Given the description of an element on the screen output the (x, y) to click on. 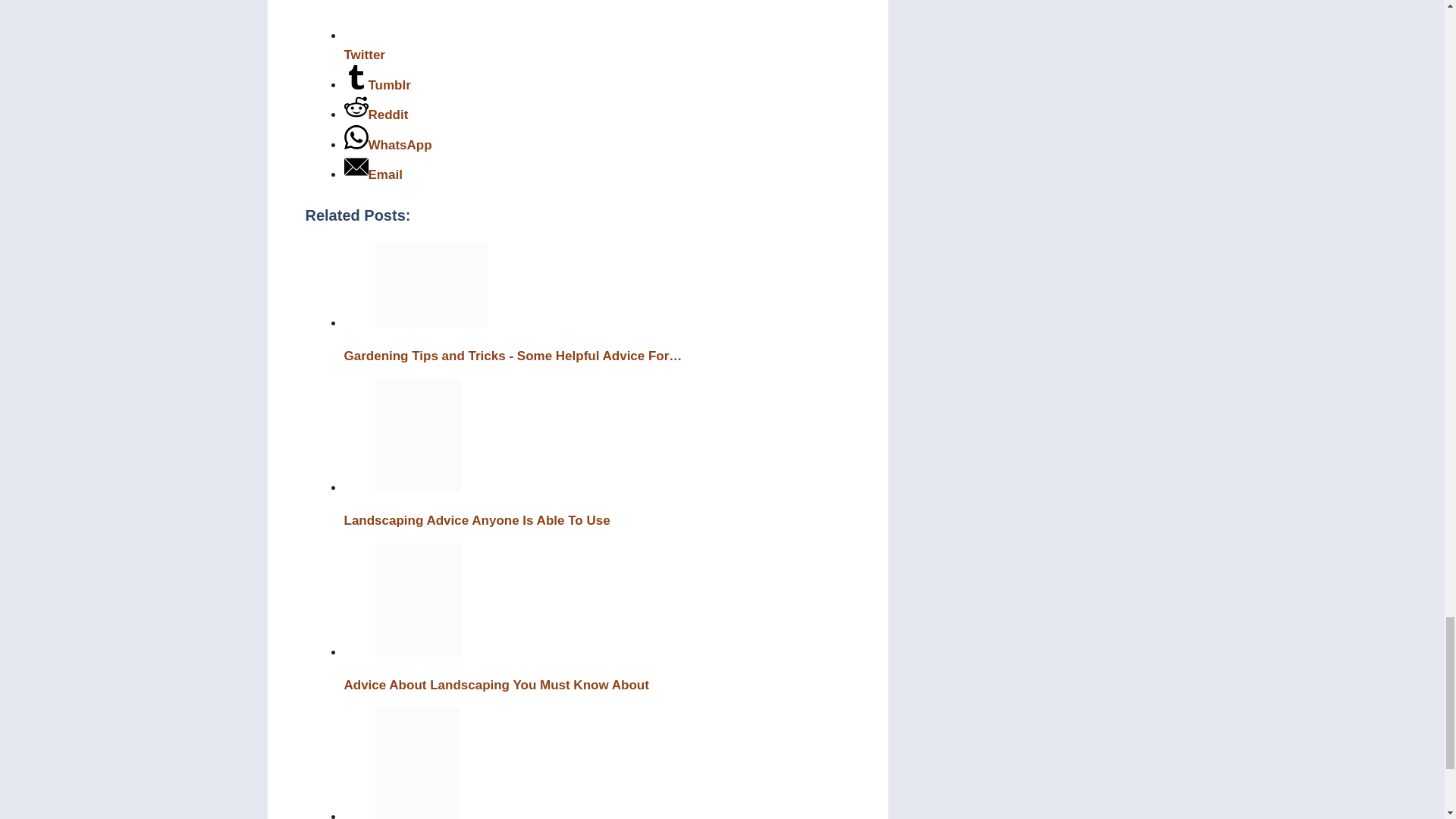
Share on WhatsApp (387, 145)
Share on Tumblr (376, 84)
Share on Reddit (376, 114)
Share on Email (373, 174)
Share on Twitter (596, 45)
